Given the description of an element on the screen output the (x, y) to click on. 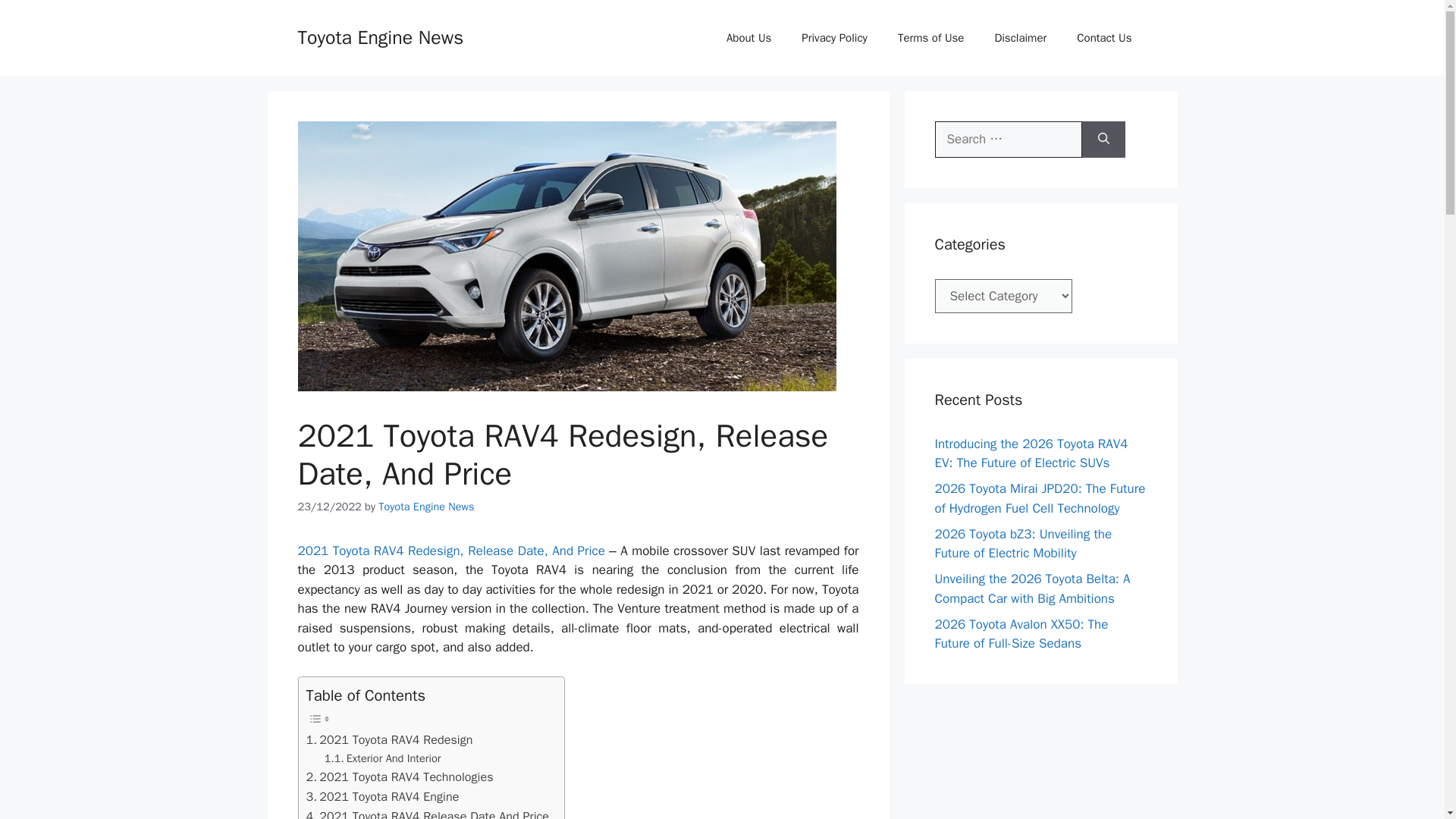
2021 Toyota RAV4 Technologies (399, 777)
Privacy Policy (834, 37)
Search for: (1007, 139)
Toyota Engine News (380, 37)
2021 Toyota RAV4 Technologies (399, 777)
2021 Toyota RAV4 Release Date And Price (427, 812)
Terms of Use (930, 37)
About Us (748, 37)
Contact Us (1104, 37)
View all posts by Toyota Engine News (426, 506)
Disclaimer (1019, 37)
2021 Toyota RAV4 Release Date And Price (427, 812)
2021 Toyota RAV4 Redesign (389, 740)
2021 Toyota RAV4 Engine (382, 796)
Toyota Engine News (426, 506)
